Given the description of an element on the screen output the (x, y) to click on. 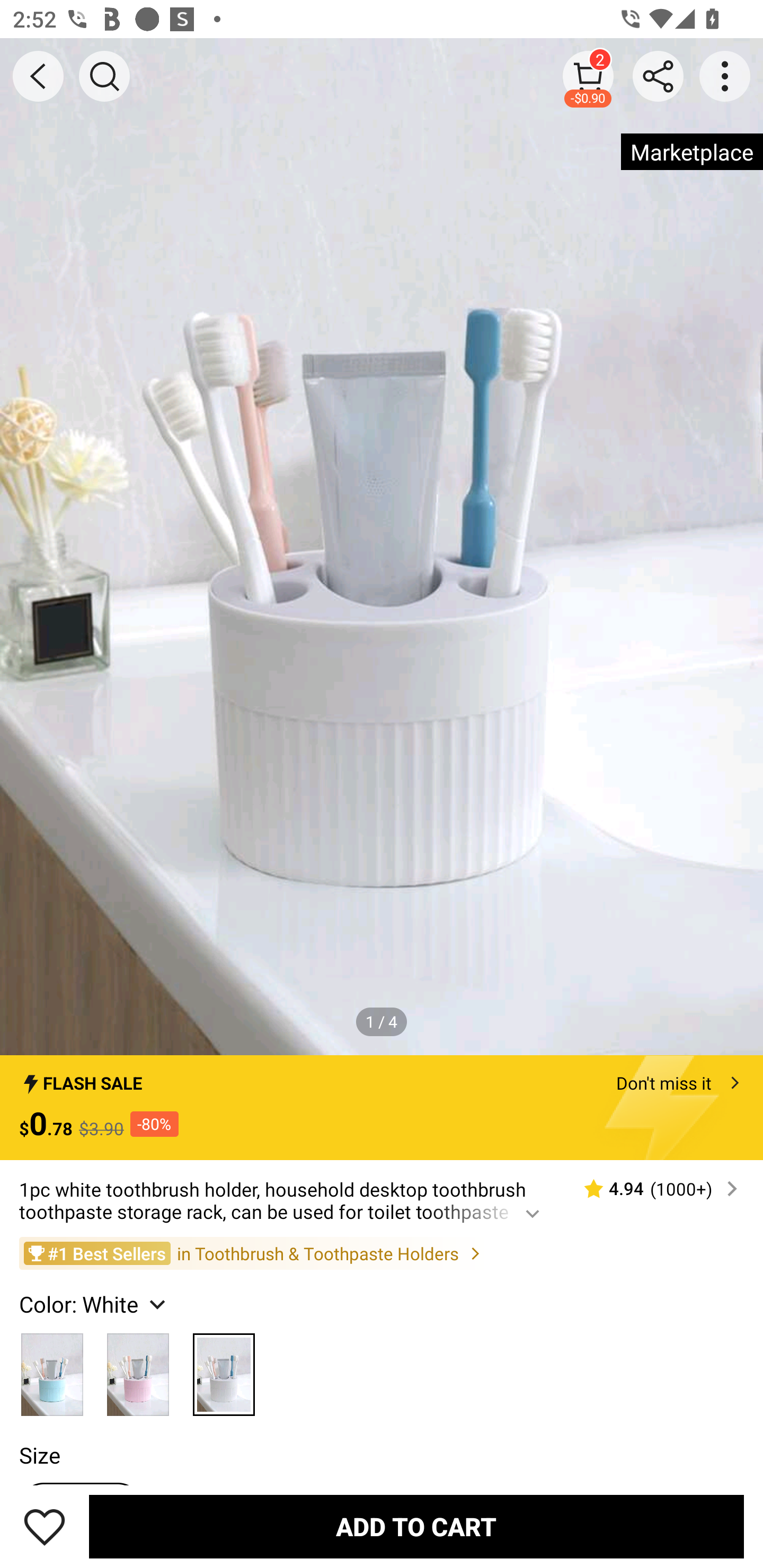
BACK (38, 75)
2 -$0.90 (588, 75)
1 / 4 (381, 1021)
FLASH SALE Don't miss it $0.78 $3.90 -80% (381, 1107)
FLASH SALE Don't miss it (381, 1077)
4.94 (1000‎+) (653, 1188)
#1 Best Sellers in Toothbrush & Toothpaste Holders (381, 1253)
Color: White (94, 1303)
Blue (52, 1369)
Pink (138, 1369)
White (224, 1369)
Size (39, 1454)
ADD TO CART (416, 1526)
Save (44, 1526)
